Given the description of an element on the screen output the (x, y) to click on. 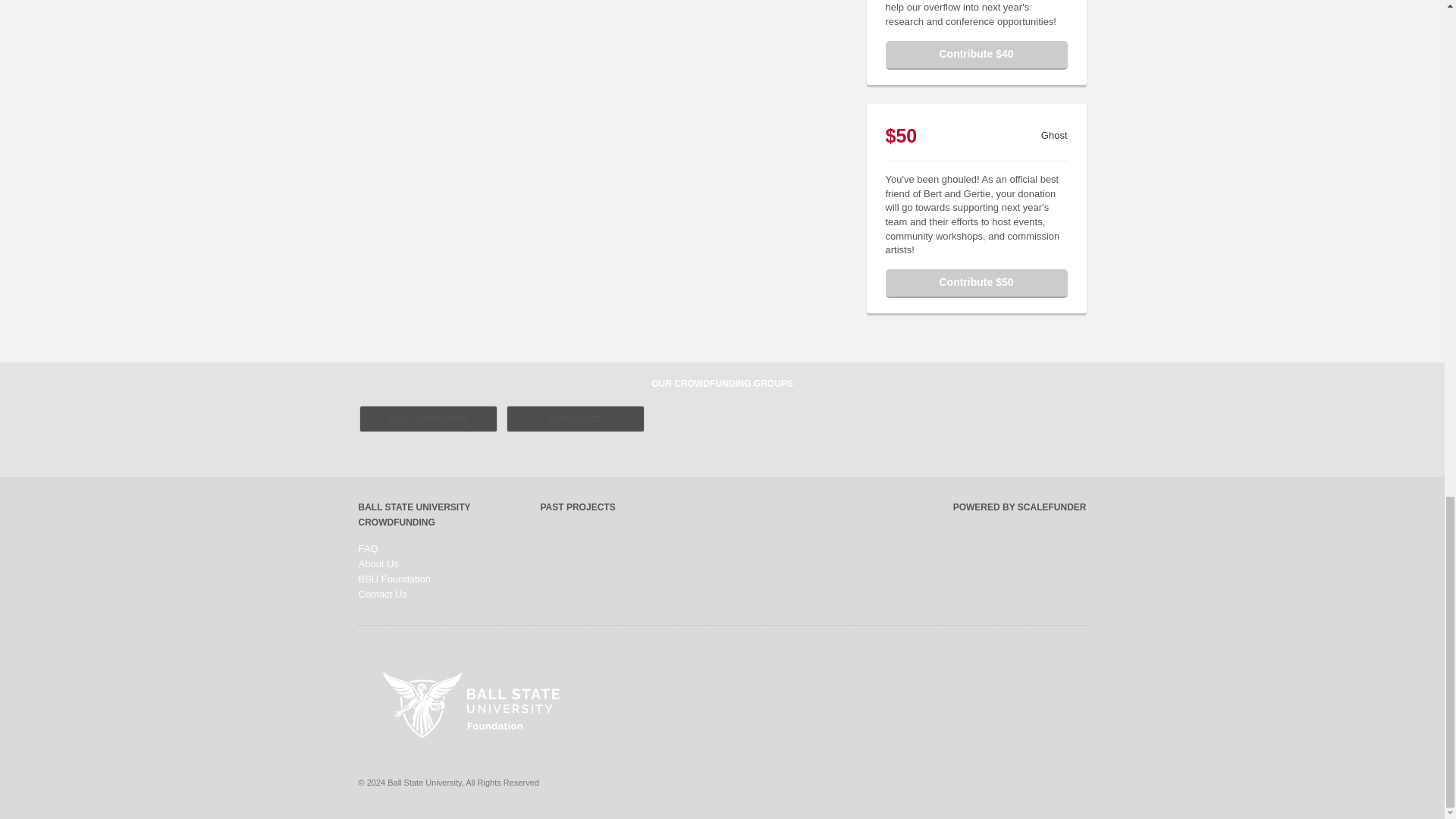
BSU Crowdfunding (428, 418)
PAST PROJECTS (577, 507)
BSU Foundation (393, 578)
POWERED BY SCALEFUNDER (1019, 507)
BALL STATE UNIVERSITY CROWDFUNDING (414, 514)
Contact Us (382, 593)
About Us (377, 563)
Past Projects (470, 705)
FAQ (367, 548)
Past Projects (575, 418)
